Given the description of an element on the screen output the (x, y) to click on. 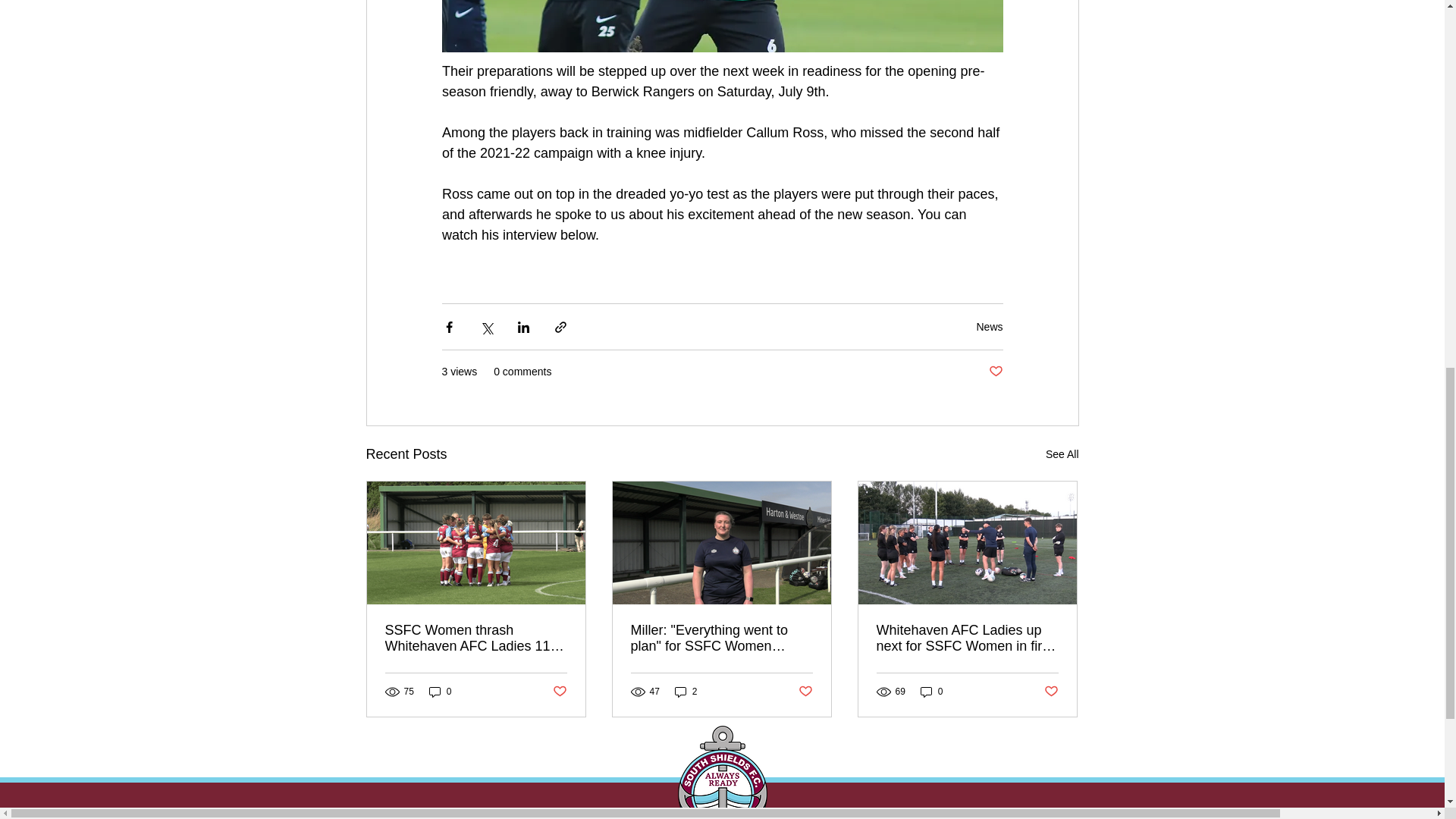
Post not marked as liked (995, 371)
News (989, 326)
See All (1061, 454)
